Given the description of an element on the screen output the (x, y) to click on. 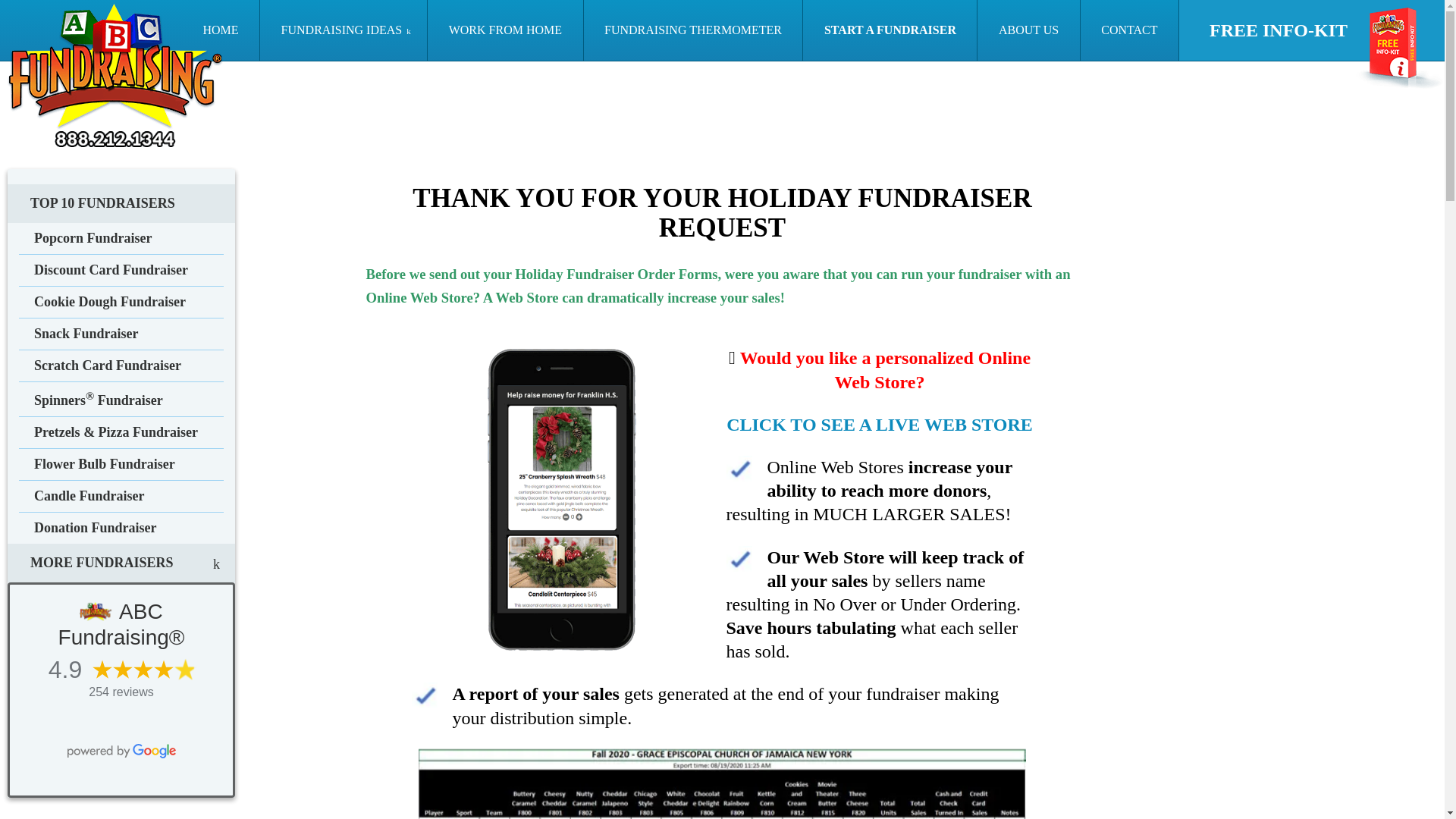
Powered by Google (120, 750)
HOME (221, 30)
FUNDRAISING IDEAS (344, 30)
